Given the description of an element on the screen output the (x, y) to click on. 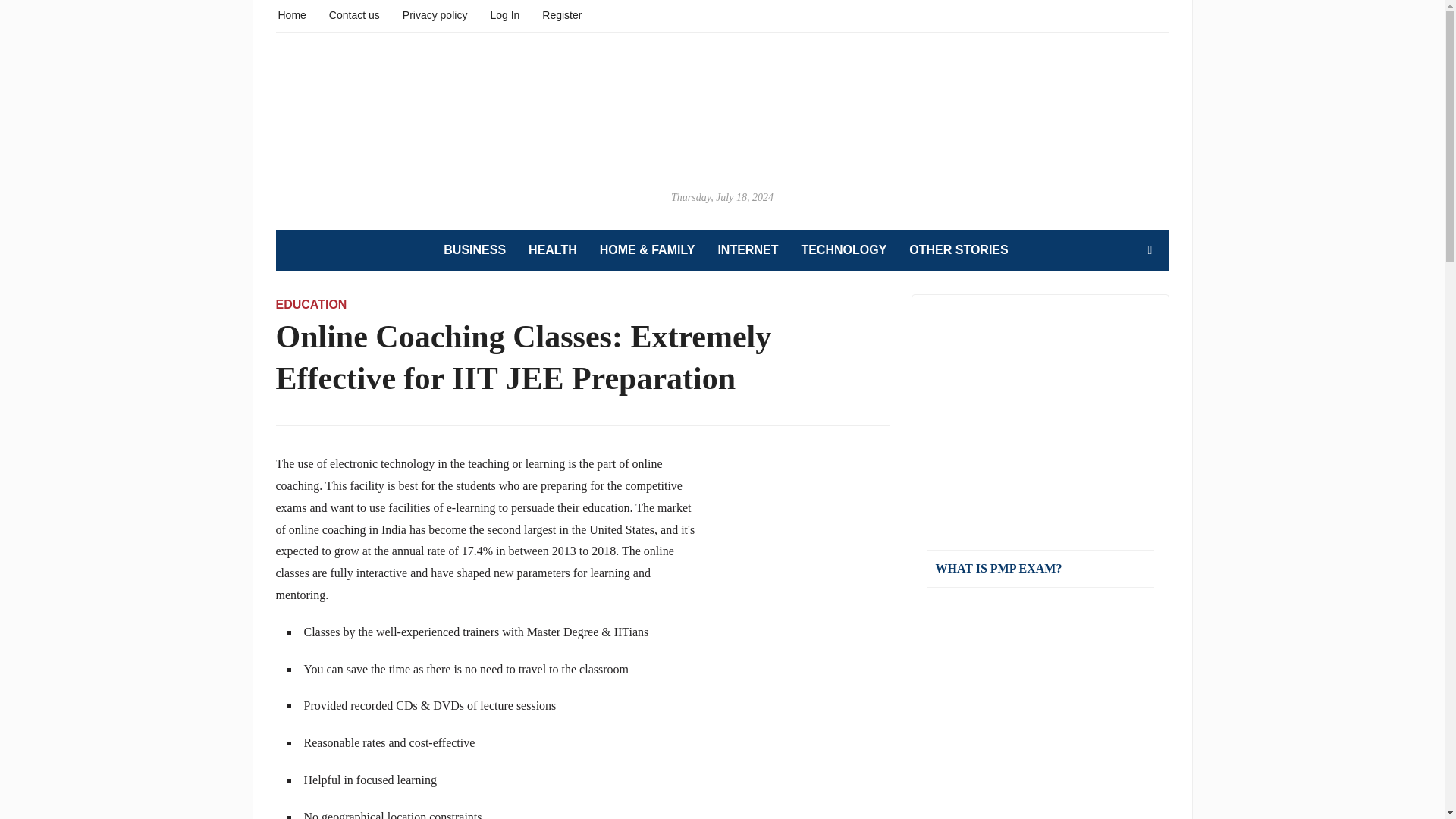
Contact us (354, 14)
Log In (504, 14)
Search (1149, 250)
Privacy policy (435, 14)
Home (291, 14)
Register (560, 14)
